Given the description of an element on the screen output the (x, y) to click on. 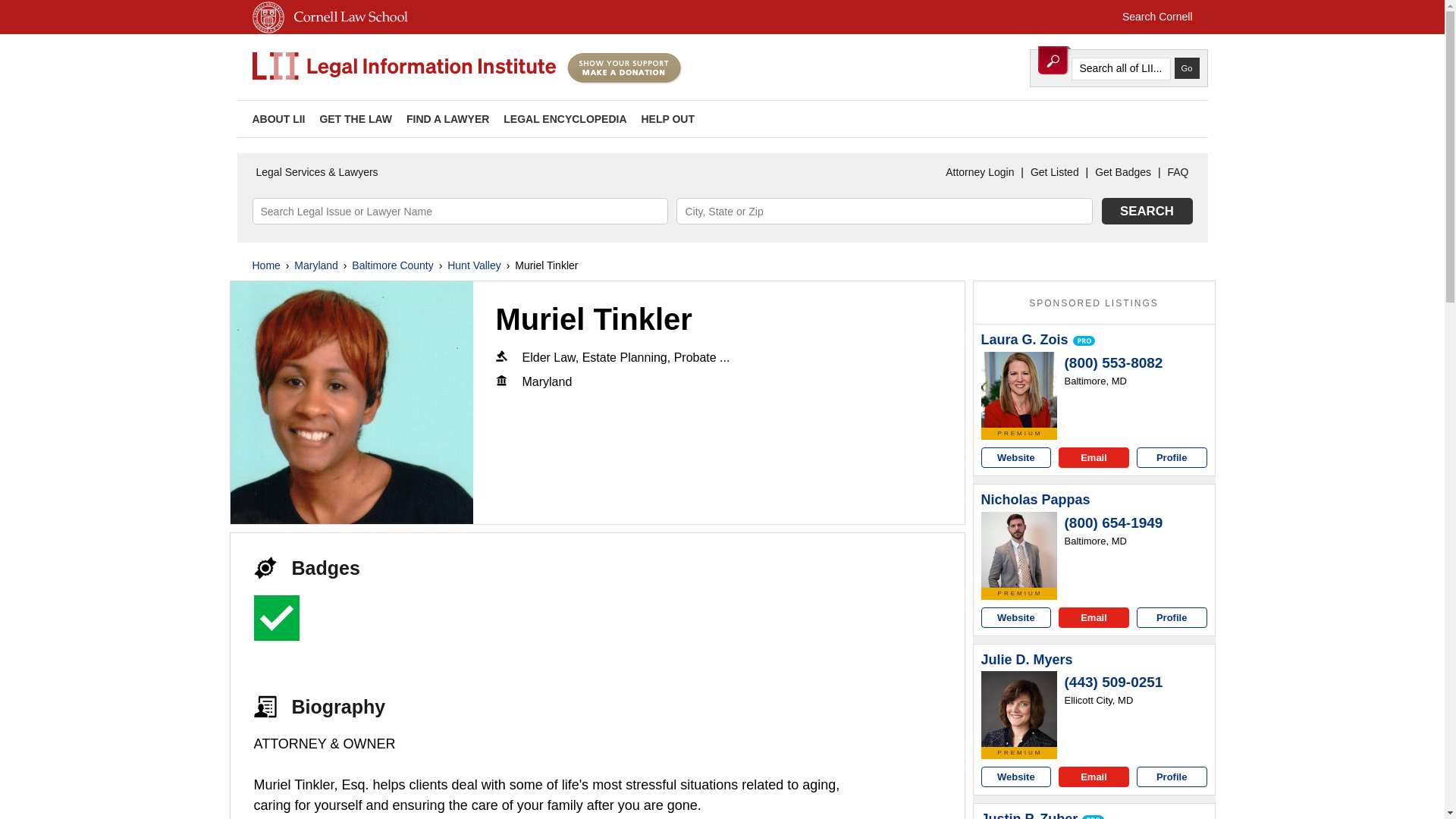
Cornell Law School (346, 29)
Email (1093, 457)
Home (265, 264)
LEGAL ENCYCLOPEDIA (564, 119)
Nicholas Pappas (1035, 500)
Go (1185, 67)
GET THE LAW (354, 119)
SEARCH (1146, 211)
HELP OUT (667, 119)
Laura G. Zois (1019, 389)
